Given the description of an element on the screen output the (x, y) to click on. 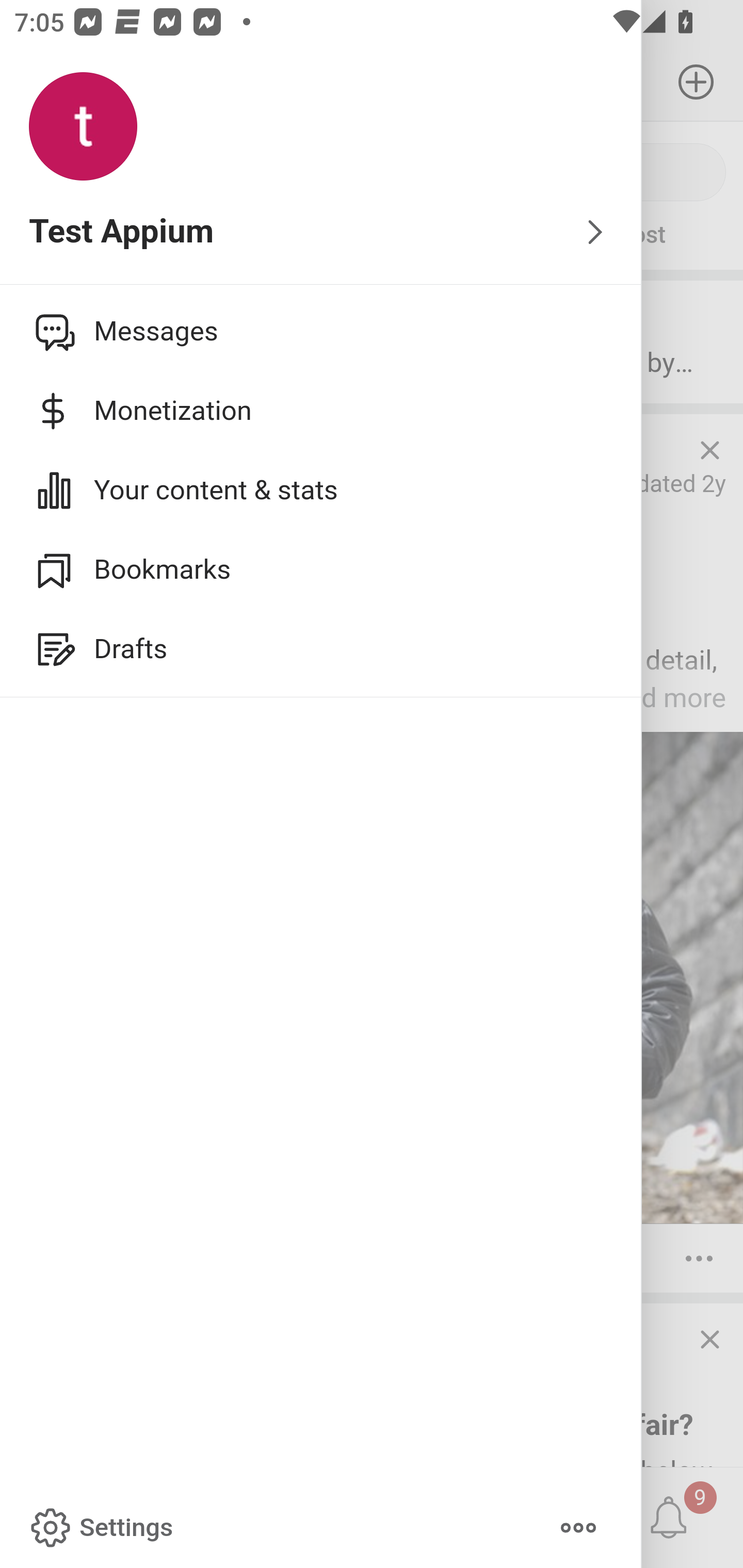
Profile photo for Test Appium (82, 126)
Test Appium (321, 232)
Ask (116, 234)
Messages (321, 330)
Monetization (321, 410)
Your content & stats (321, 489)
Bookmarks (321, 568)
Drafts (321, 648)
Settings (99, 1527)
More (578, 1527)
